Given the description of an element on the screen output the (x, y) to click on. 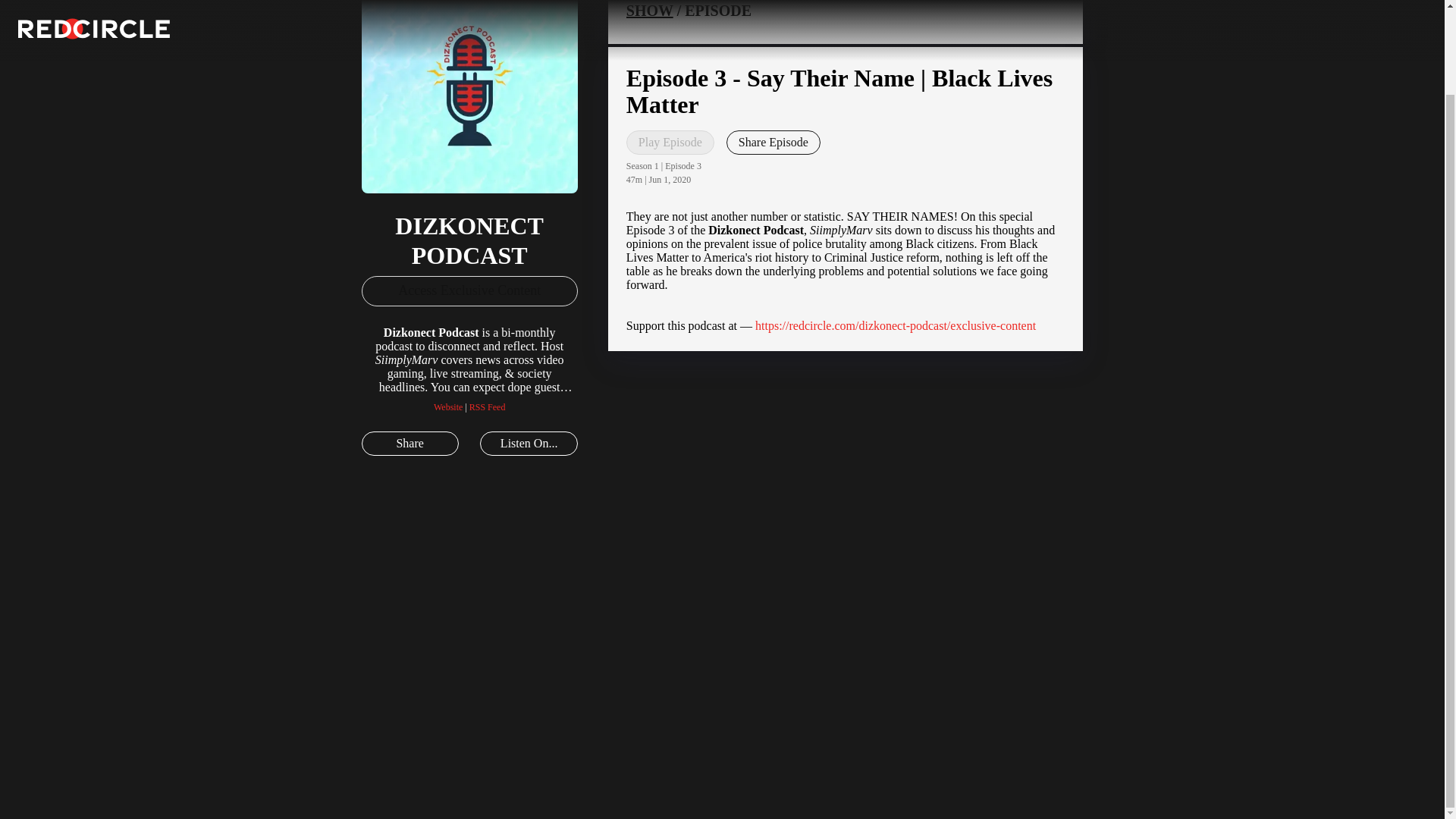
Access Exclusive Content (468, 291)
RSS Feed (486, 407)
Share Episode (773, 142)
Website (448, 407)
Play Episode (670, 142)
Listen On... (528, 443)
Share (409, 443)
SHOW (649, 10)
